Given the description of an element on the screen output the (x, y) to click on. 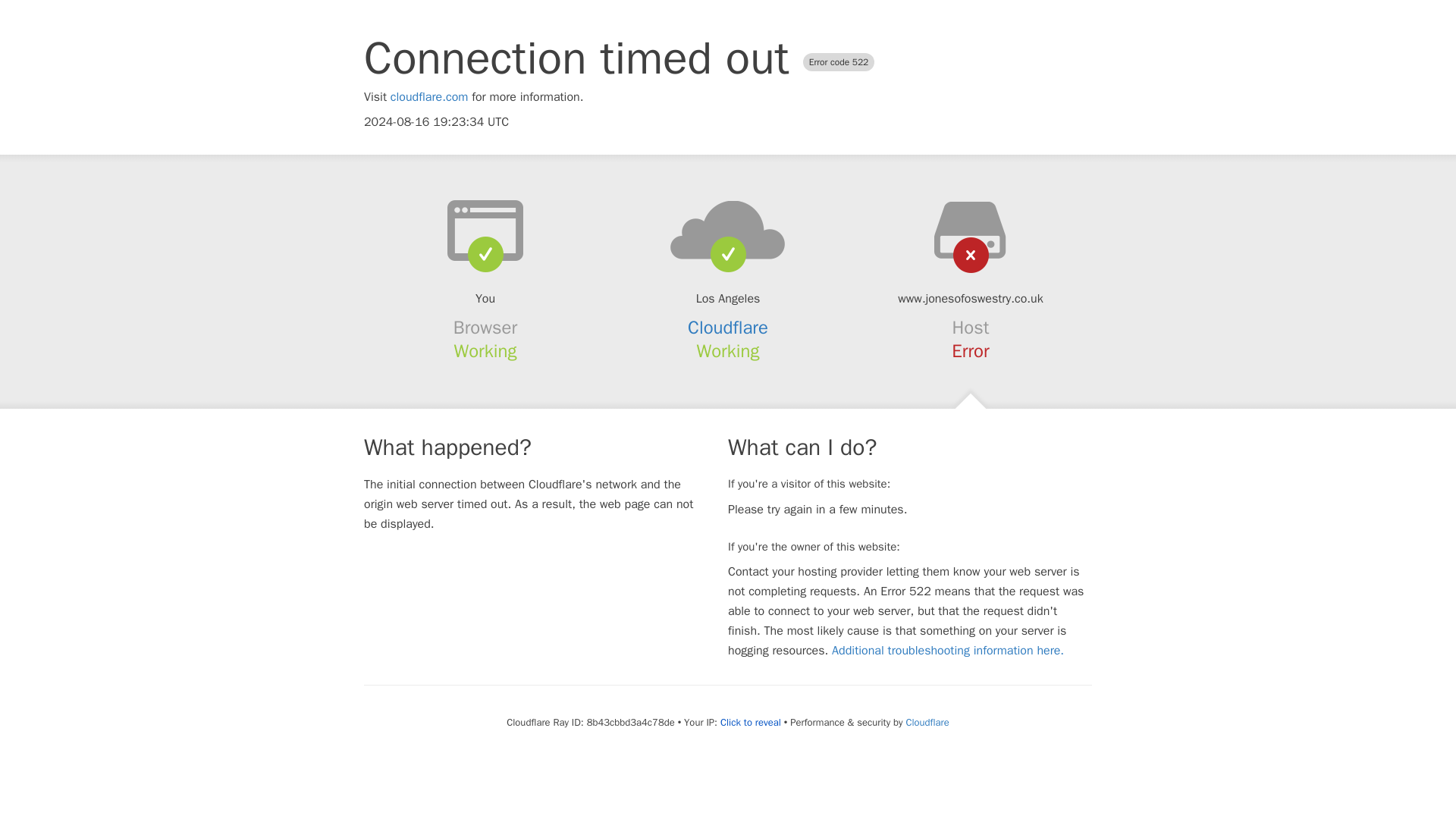
Cloudflare (727, 327)
Additional troubleshooting information here. (947, 650)
cloudflare.com (429, 96)
Cloudflare (927, 721)
Click to reveal (750, 722)
